Given the description of an element on the screen output the (x, y) to click on. 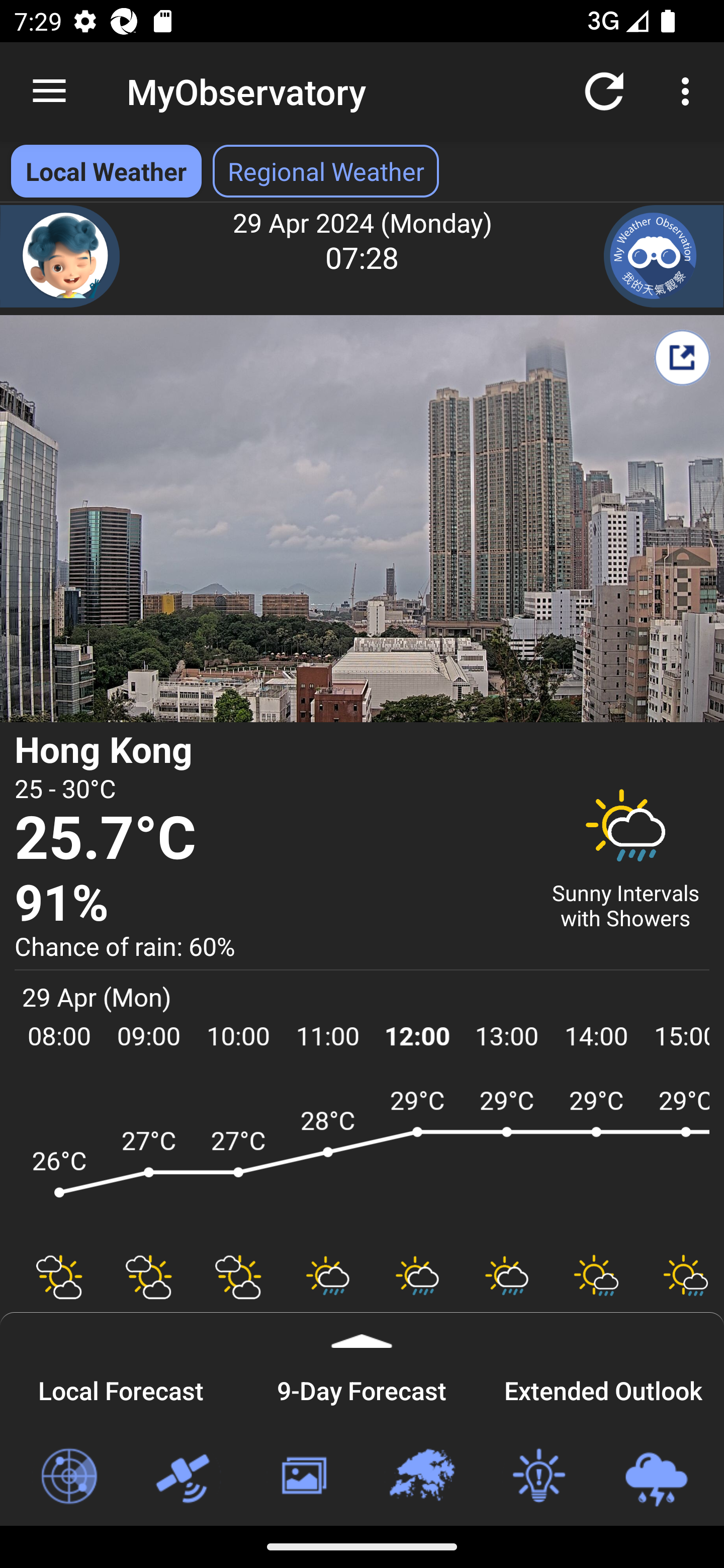
Navigate up (49, 91)
Refresh (604, 90)
More options (688, 90)
Local Weather Local Weather selected (105, 170)
Regional Weather Select Regional Weather (325, 170)
Chatbot (60, 256)
My Weather Observation (663, 256)
Share My Weather Report (681, 357)
25.7°C Temperature
25.7 degree Celsius (270, 839)
91% Relative Humidity
91 percent (270, 903)
ARWF (361, 1160)
Expand (362, 1330)
Local Forecast (120, 1387)
Extended Outlook (603, 1387)
Radar Images (68, 1476)
Satellite Images (185, 1476)
Weather Photos (302, 1476)
Regional Weather (420, 1476)
Weather Tips (537, 1476)
Loc-based Rain & Lightning Forecast (655, 1476)
